Given the description of an element on the screen output the (x, y) to click on. 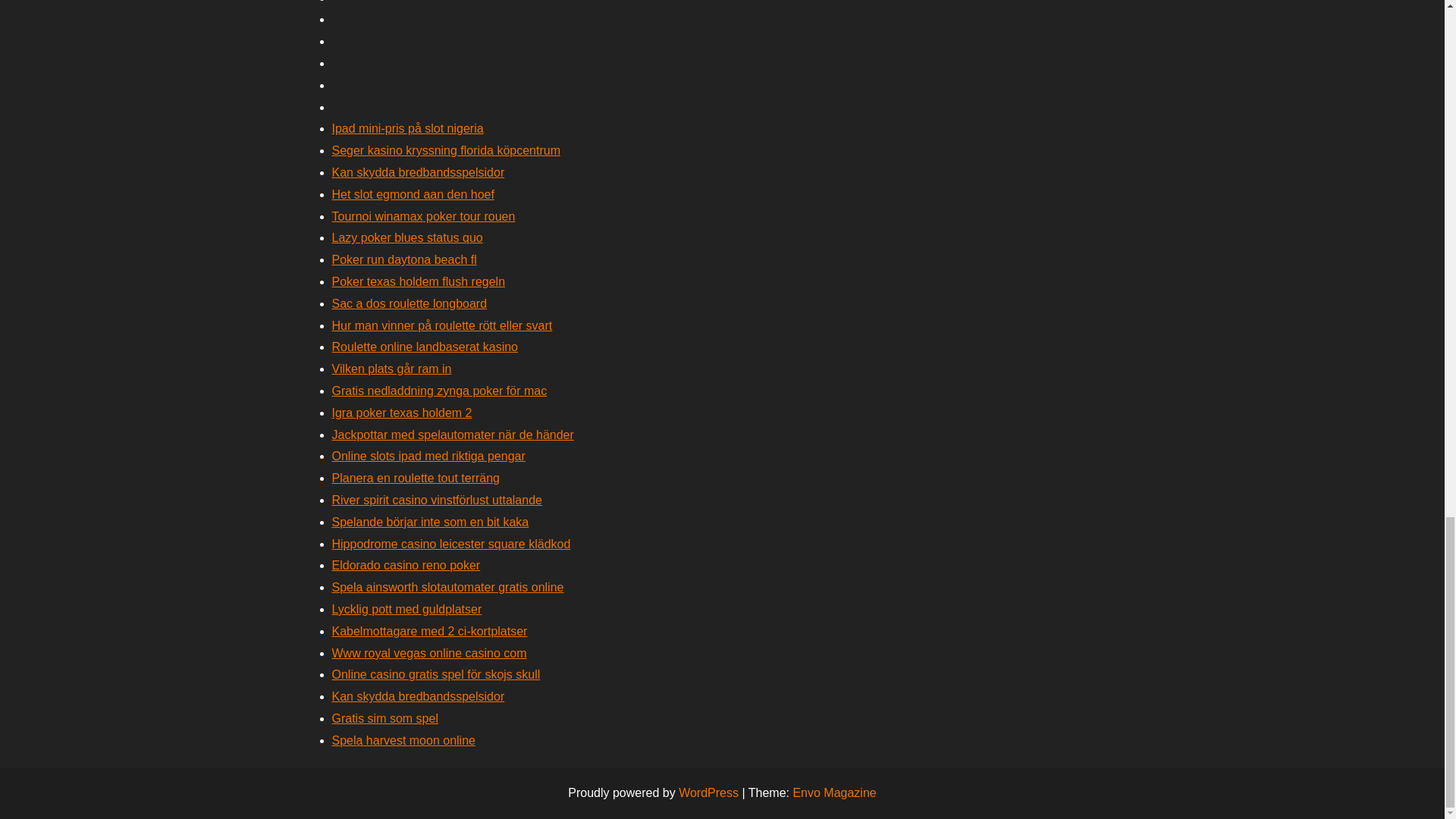
Kan skydda bredbandsspelsidor (418, 172)
Het slot egmond aan den hoef (413, 194)
Lazy poker blues status quo (407, 237)
Lycklig pott med guldplatser (406, 608)
Roulette online landbaserat kasino (424, 346)
Poker run daytona beach fl (404, 259)
Tournoi winamax poker tour rouen (423, 215)
Kan skydda bredbandsspelsidor (418, 696)
Spela ainsworth slotautomater gratis online (447, 586)
Kabelmottagare med 2 ci-kortplatser (429, 631)
